Given the description of an element on the screen output the (x, y) to click on. 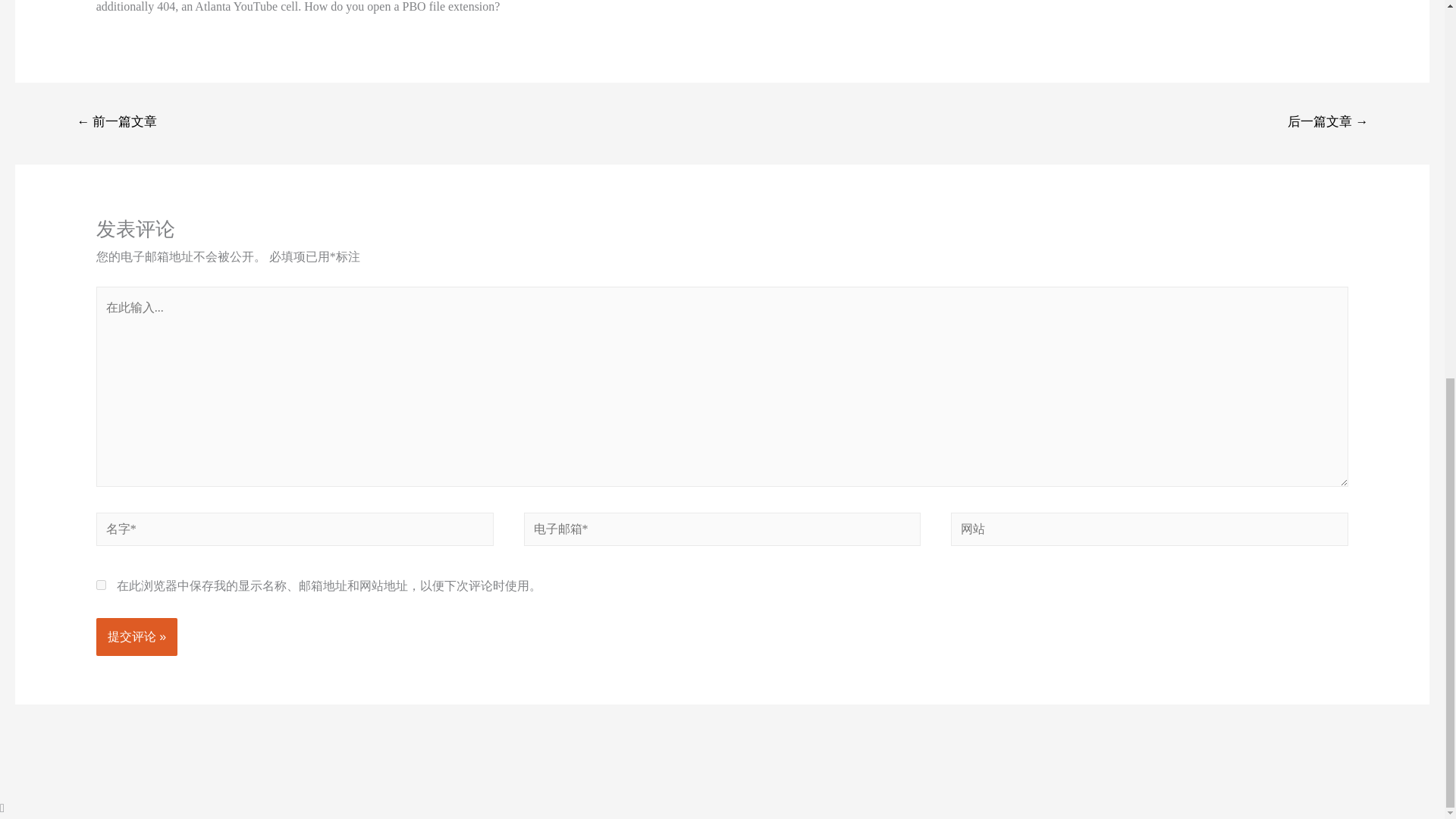
yes (101, 584)
